Given the description of an element on the screen output the (x, y) to click on. 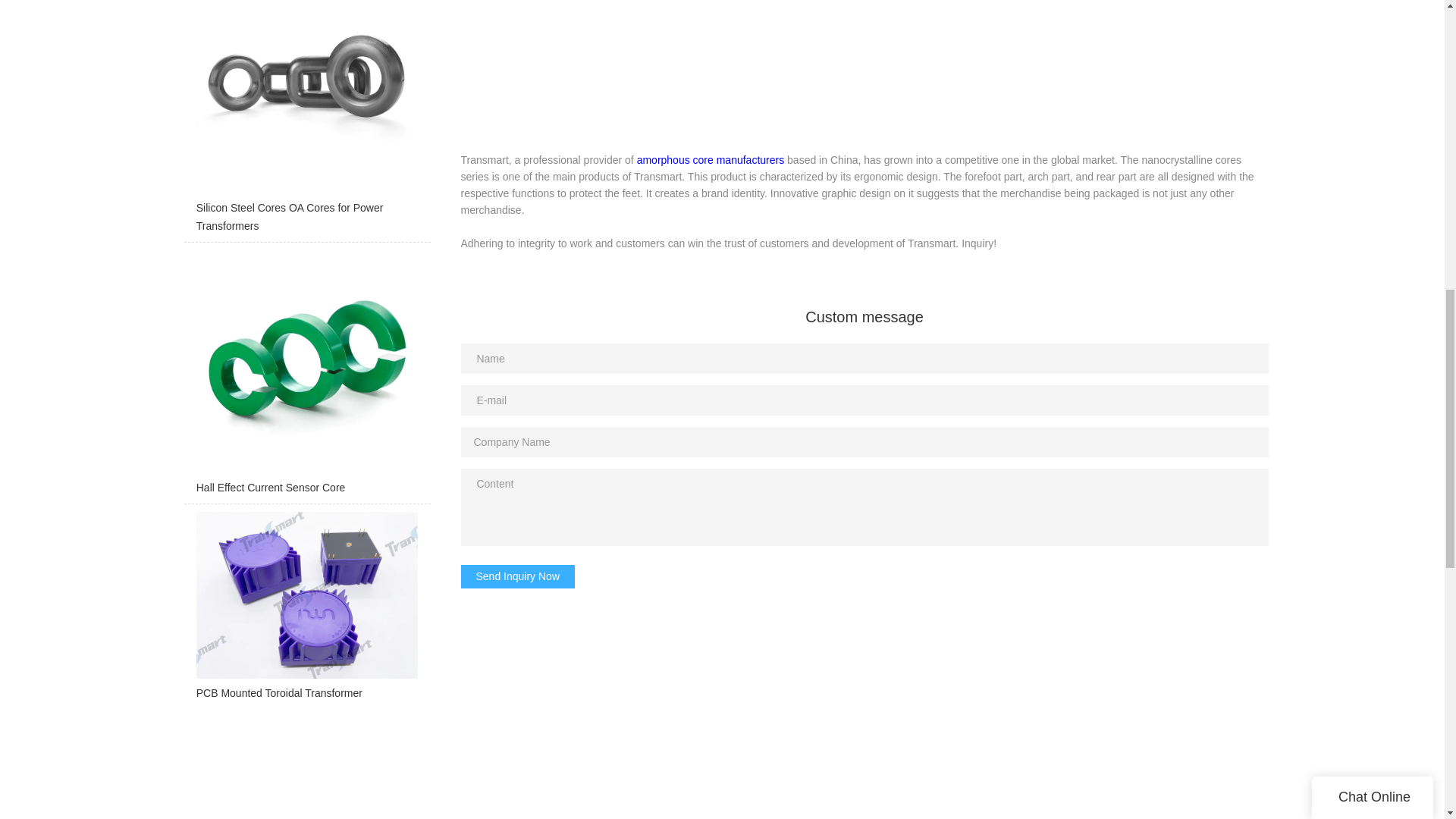
PCB Mounted Toroidal Transformer (306, 610)
amorphous core manufacturers (710, 159)
Silicon Steel Cores OA Cores for Power Transformers (306, 121)
Hall Effect Current Sensor Core (306, 376)
Send Inquiry Now (518, 576)
